Given the description of an element on the screen output the (x, y) to click on. 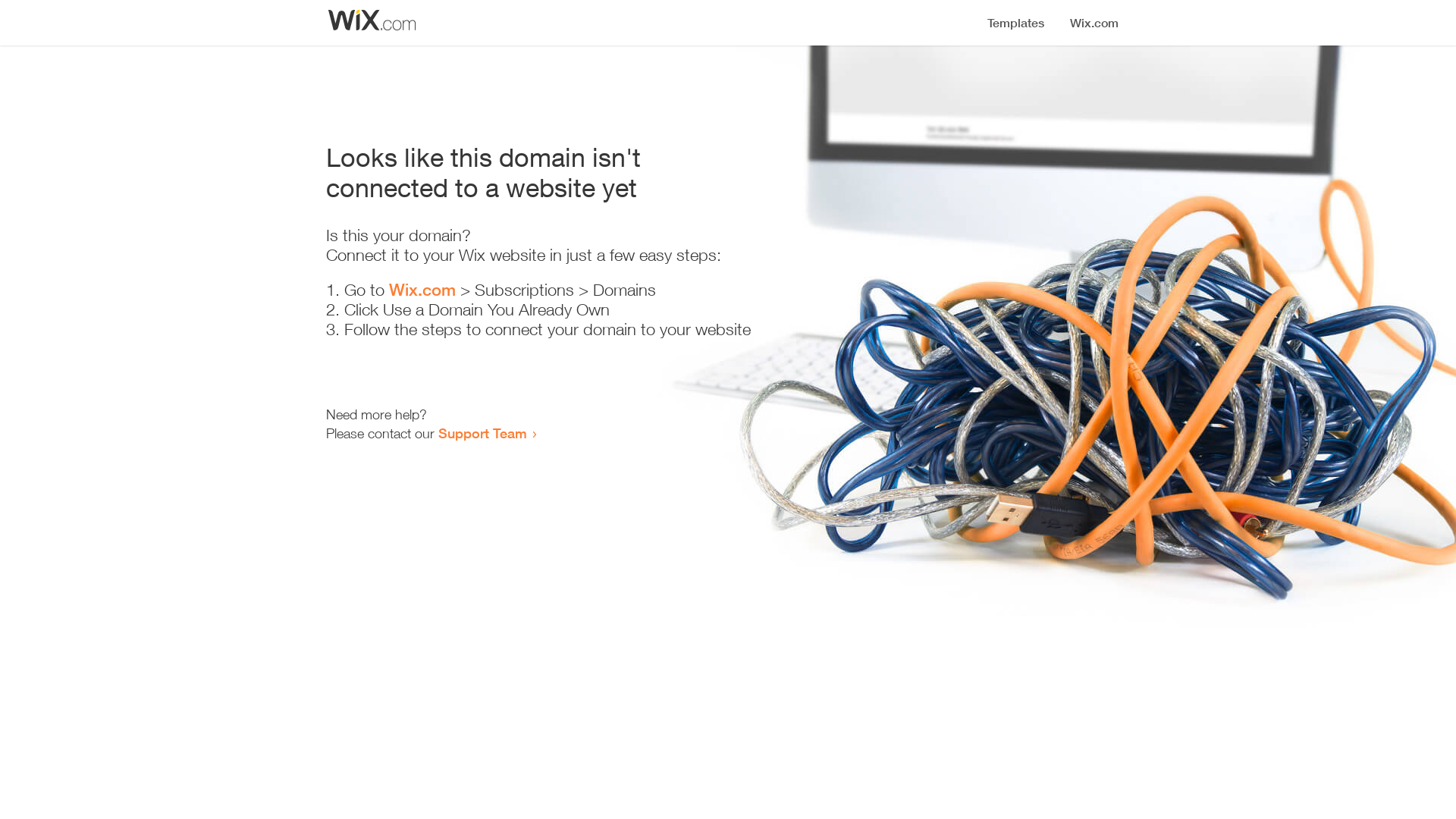
Wix.com Element type: text (422, 289)
Support Team Element type: text (482, 432)
